Given the description of an element on the screen output the (x, y) to click on. 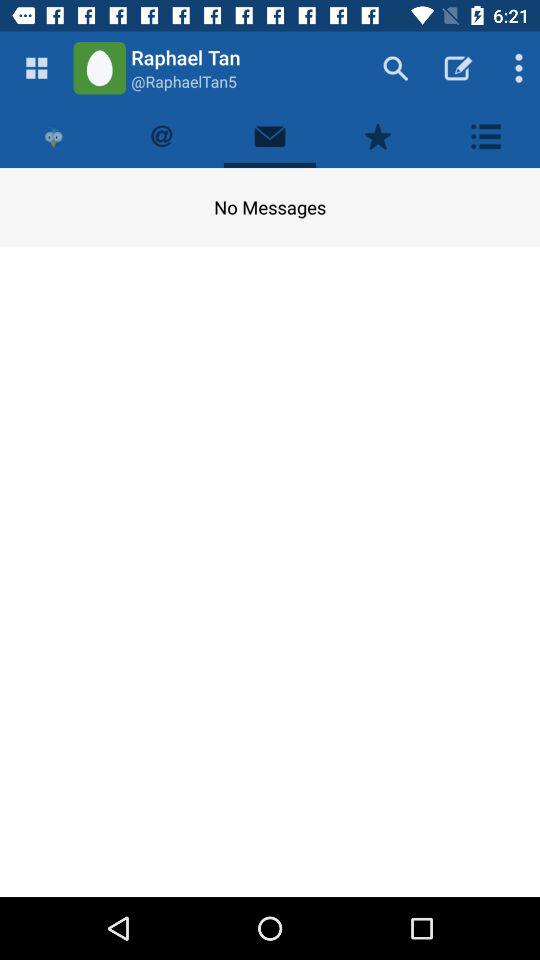
menu button (36, 68)
